Given the description of an element on the screen output the (x, y) to click on. 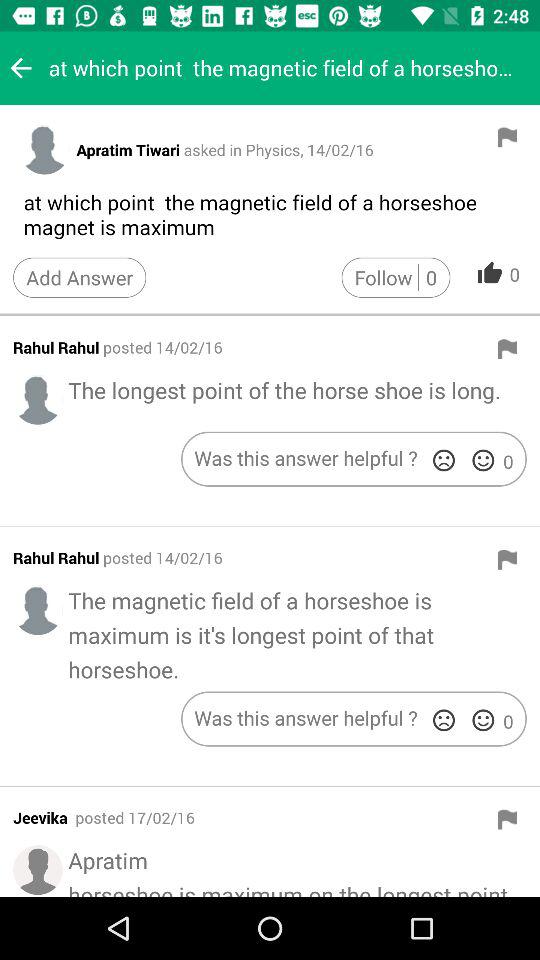
report answer (507, 137)
